Given the description of an element on the screen output the (x, y) to click on. 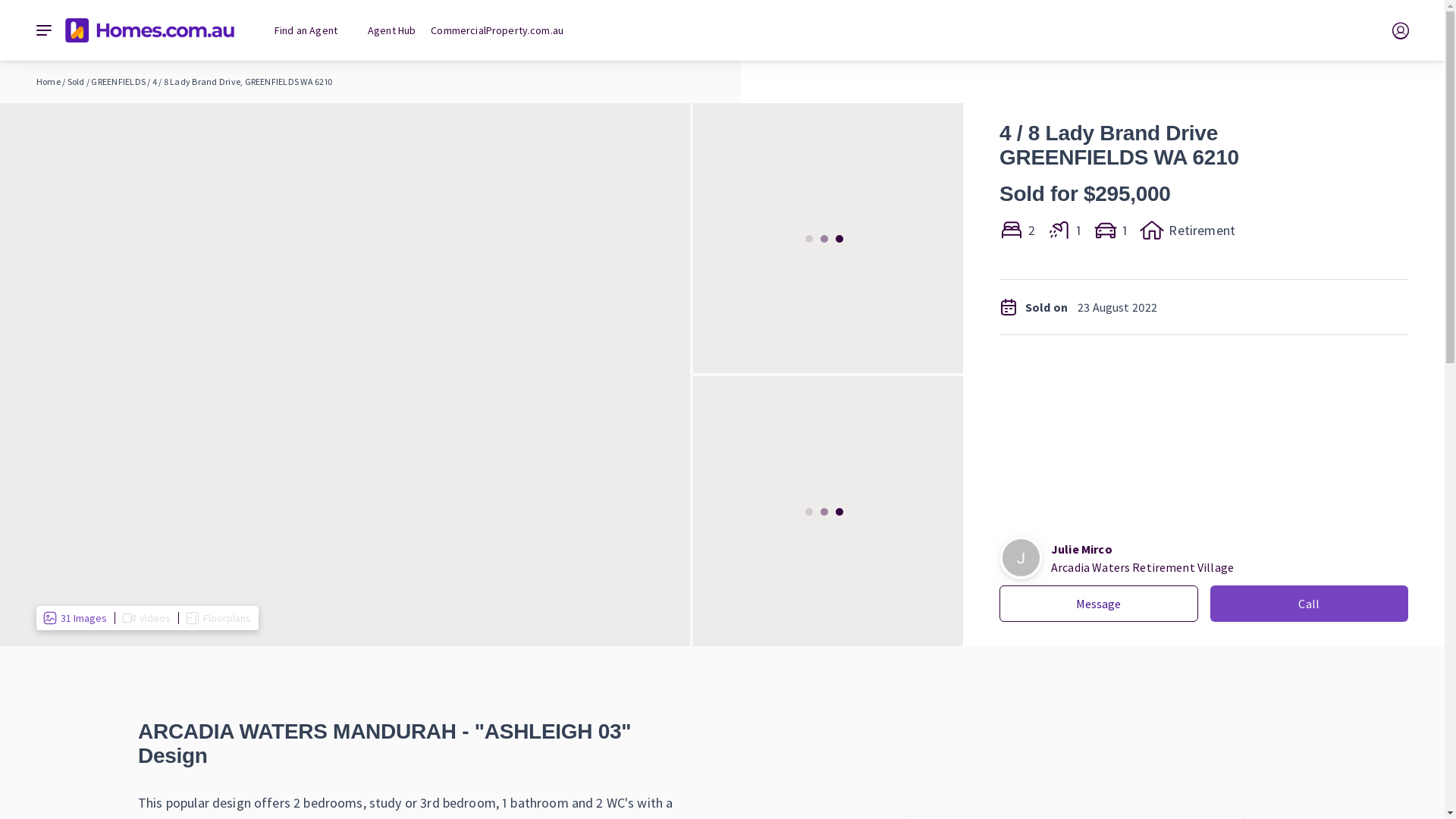
Home Element type: text (48, 81)
Message Element type: text (1098, 603)
Julie Mirco Element type: text (1081, 548)
Floorplans Element type: text (218, 617)
Videos Element type: text (146, 617)
Find an Agent Element type: text (305, 30)
Agent Hub Element type: text (391, 30)
GREENFIELDS Element type: text (118, 81)
CommercialProperty.com.au Element type: text (496, 30)
Sold Element type: text (75, 81)
31 Images Element type: text (75, 617)
Arcadia Waters Retirement Village Element type: text (1142, 567)
J Element type: text (1020, 557)
Call Element type: text (1309, 603)
